Given the description of an element on the screen output the (x, y) to click on. 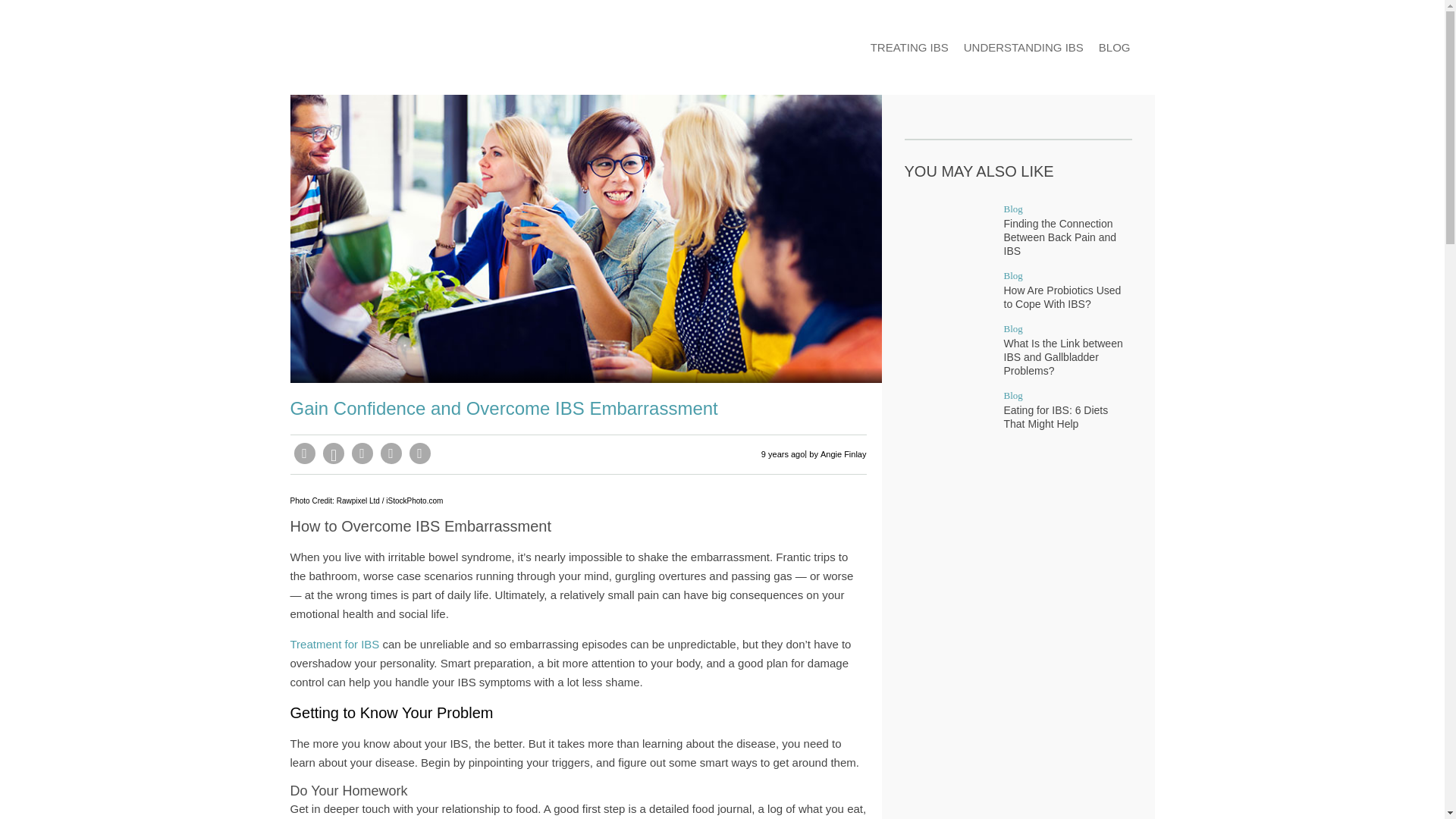
Rawpixel Ltd (358, 500)
Twitter (390, 453)
IBSLiving.today (365, 47)
TREATING IBS (909, 47)
BLOG (1115, 47)
Facebook (304, 453)
iStockPhoto.com (413, 500)
Messenger (362, 453)
Pinterest (333, 453)
Email (419, 453)
Angie Finlay (843, 454)
Search (1146, 47)
Treatment for IBS (333, 644)
UNDERSTANDING IBS (1023, 47)
